Given the description of an element on the screen output the (x, y) to click on. 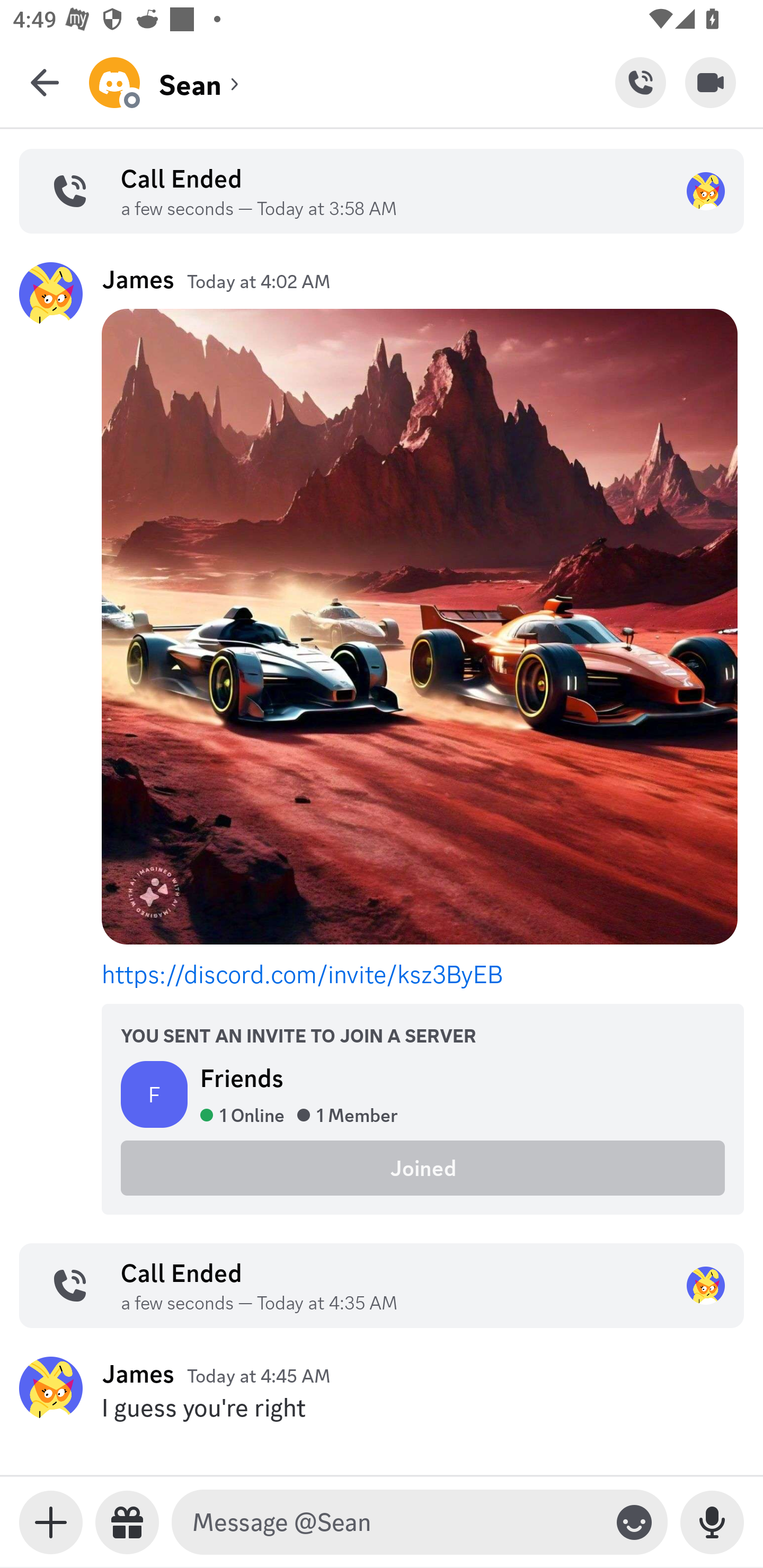
Sean (channel) Sean Sean (channel) (351, 82)
Back (44, 82)
Add Friends (642, 82)
Start Voice Call (640, 82)
Start Video Call (710, 82)
Call Ended a few seconds — Today at 3:58 AM (381, 190)
James (137, 278)
Joined (422, 1166)
Call Ended a few seconds — Today at 4:35 AM (381, 1285)
James (137, 1373)
Message @Sean Toggle emoji keyboard (419, 1522)
Toggle media keyboard (50, 1522)
Send a gift (126, 1522)
Record Voice Message (711, 1522)
Toggle emoji keyboard (634, 1522)
